Given the description of an element on the screen output the (x, y) to click on. 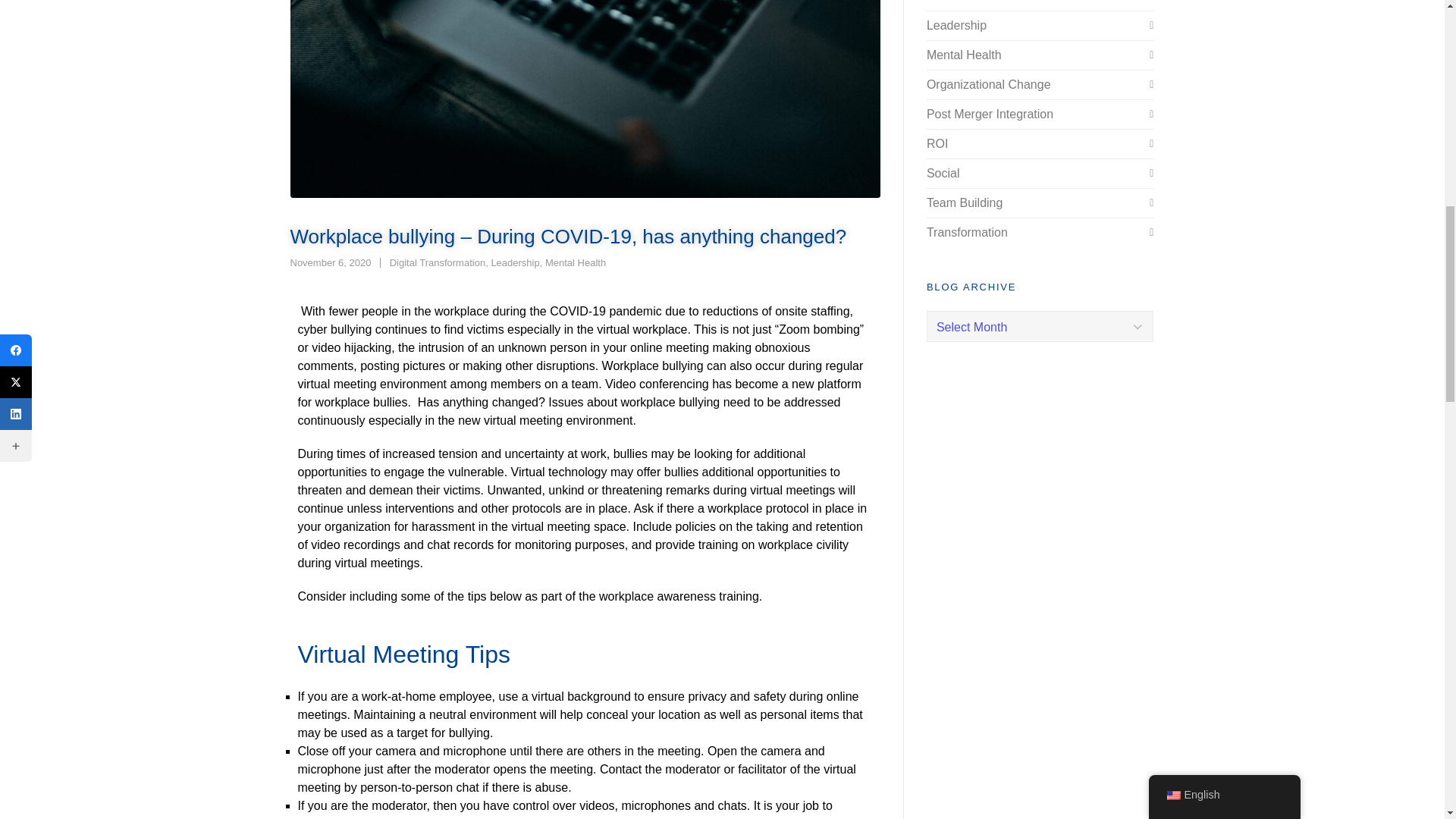
Mental Health (574, 262)
Digital Transformation (437, 262)
Leadership (514, 262)
